Given the description of an element on the screen output the (x, y) to click on. 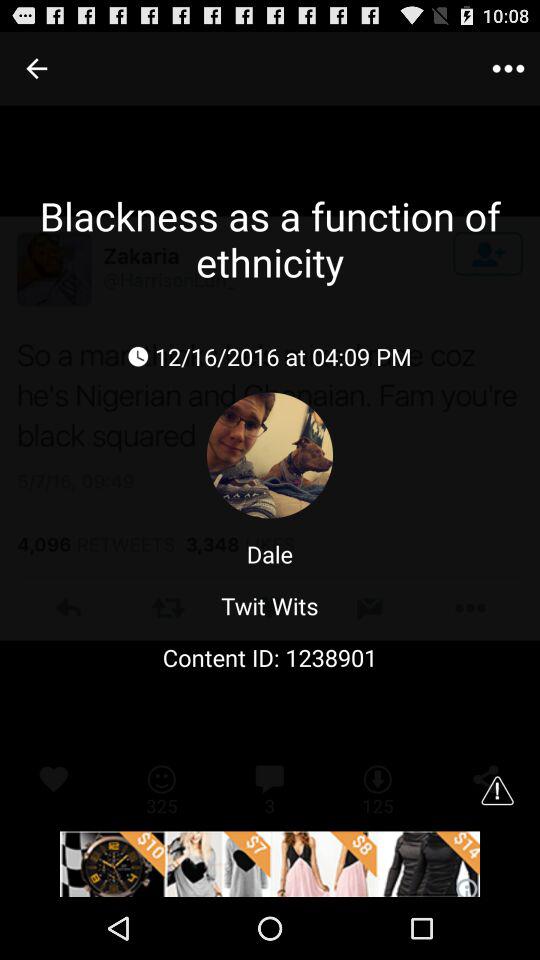
select to caution (497, 790)
